Given the description of an element on the screen output the (x, y) to click on. 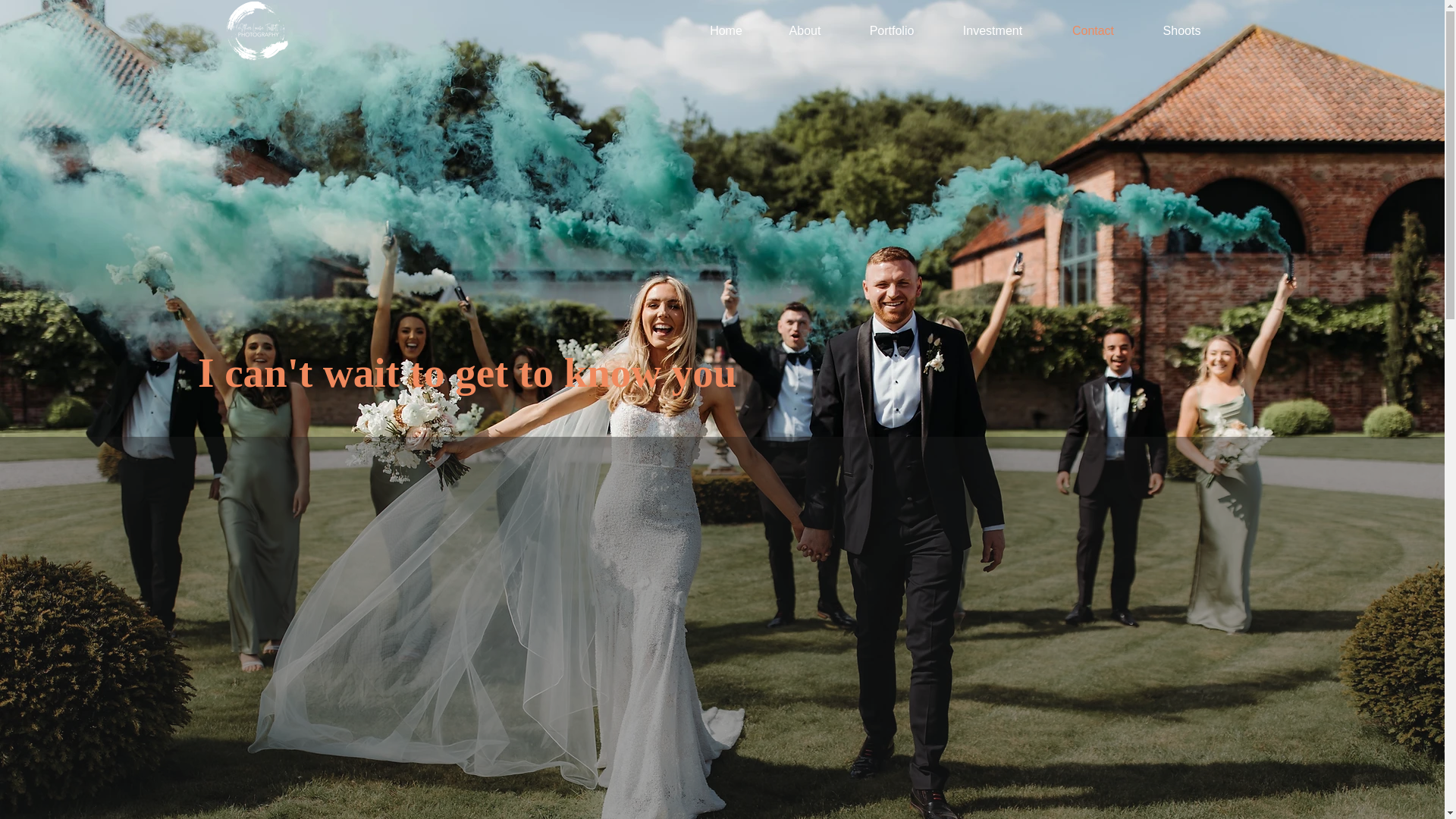
About (804, 30)
Investment (992, 30)
Shoots (1181, 30)
Contact (1092, 30)
Home (725, 30)
Portfolio (890, 30)
